Given the description of an element on the screen output the (x, y) to click on. 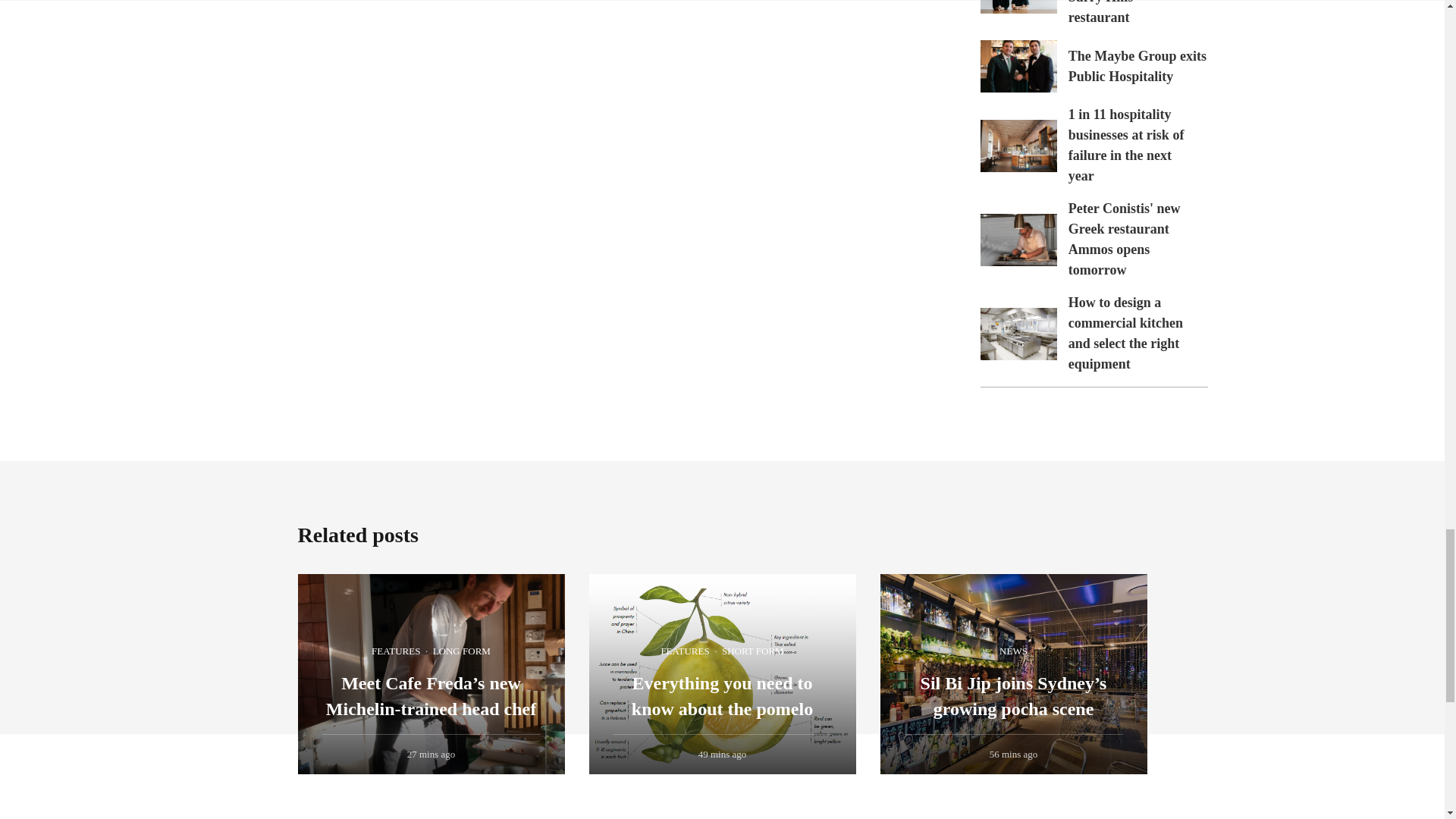
The Maybe Group exits Public Hospitality (1137, 66)
Peter Conistis' new Greek restaurant Ammos opens tomorrow (1124, 238)
The Apollo Group announces 200-seater Surry Hills restaurant (1130, 12)
The Maybe Group exits Public Hospitality (1018, 66)
Peter Conistis' new Greek restaurant Ammos opens tomorrow (1018, 239)
The Apollo Group announces 200-seater Surry Hills restaurant (1018, 6)
